Given the description of an element on the screen output the (x, y) to click on. 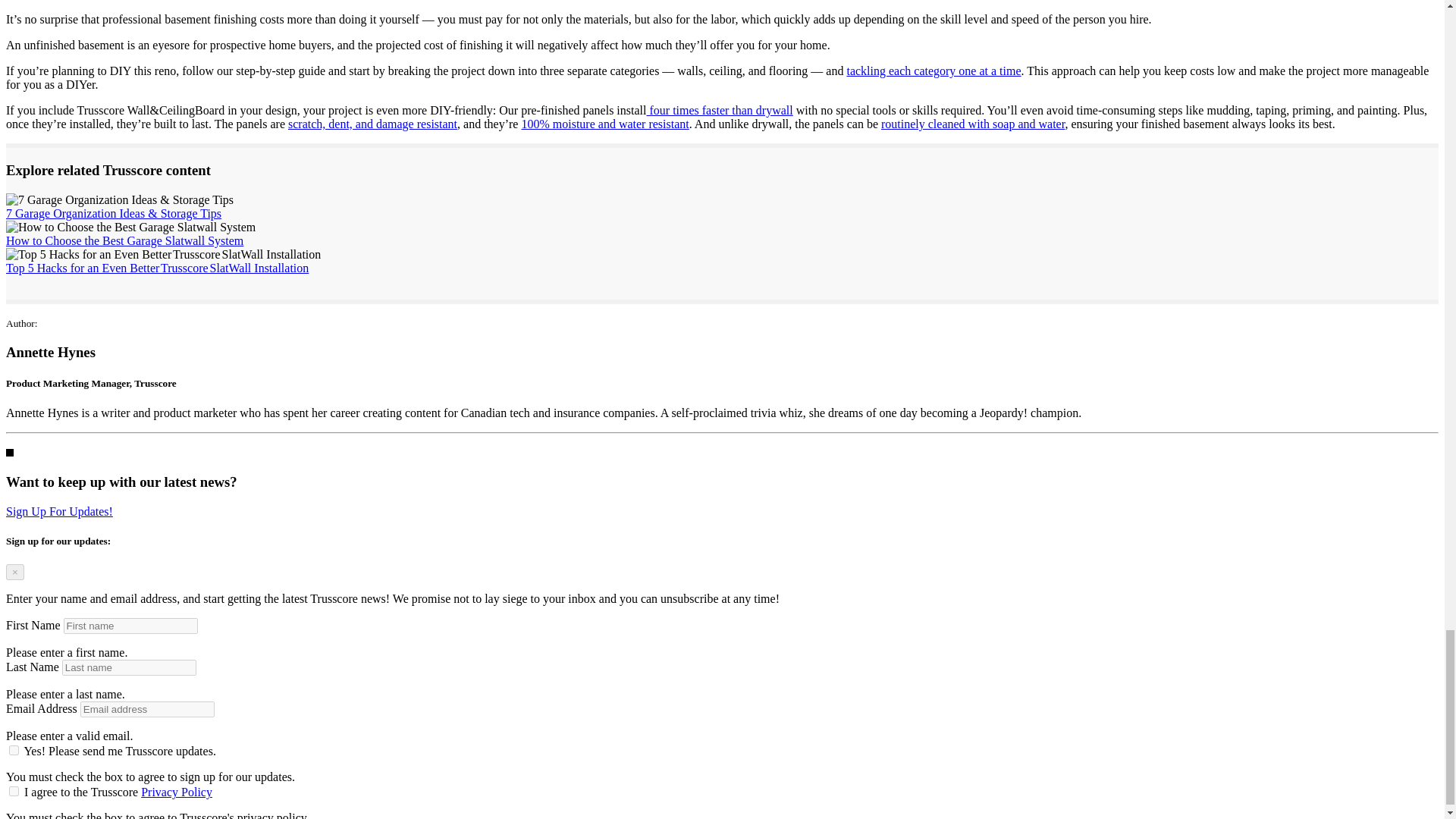
on (13, 791)
on (13, 750)
